Given the description of an element on the screen output the (x, y) to click on. 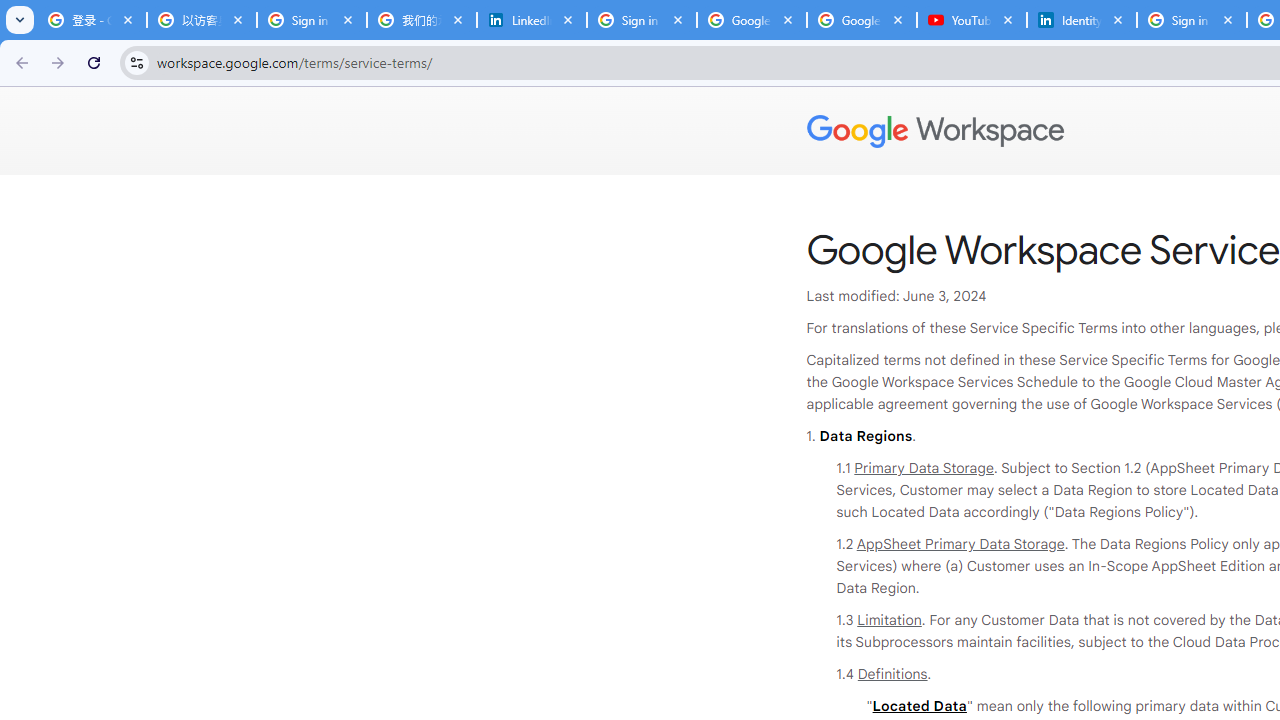
Sign in - Google Accounts (1191, 20)
Sign in - Google Accounts (312, 20)
LinkedIn Privacy Policy (532, 20)
YouTube (971, 20)
